Given the description of an element on the screen output the (x, y) to click on. 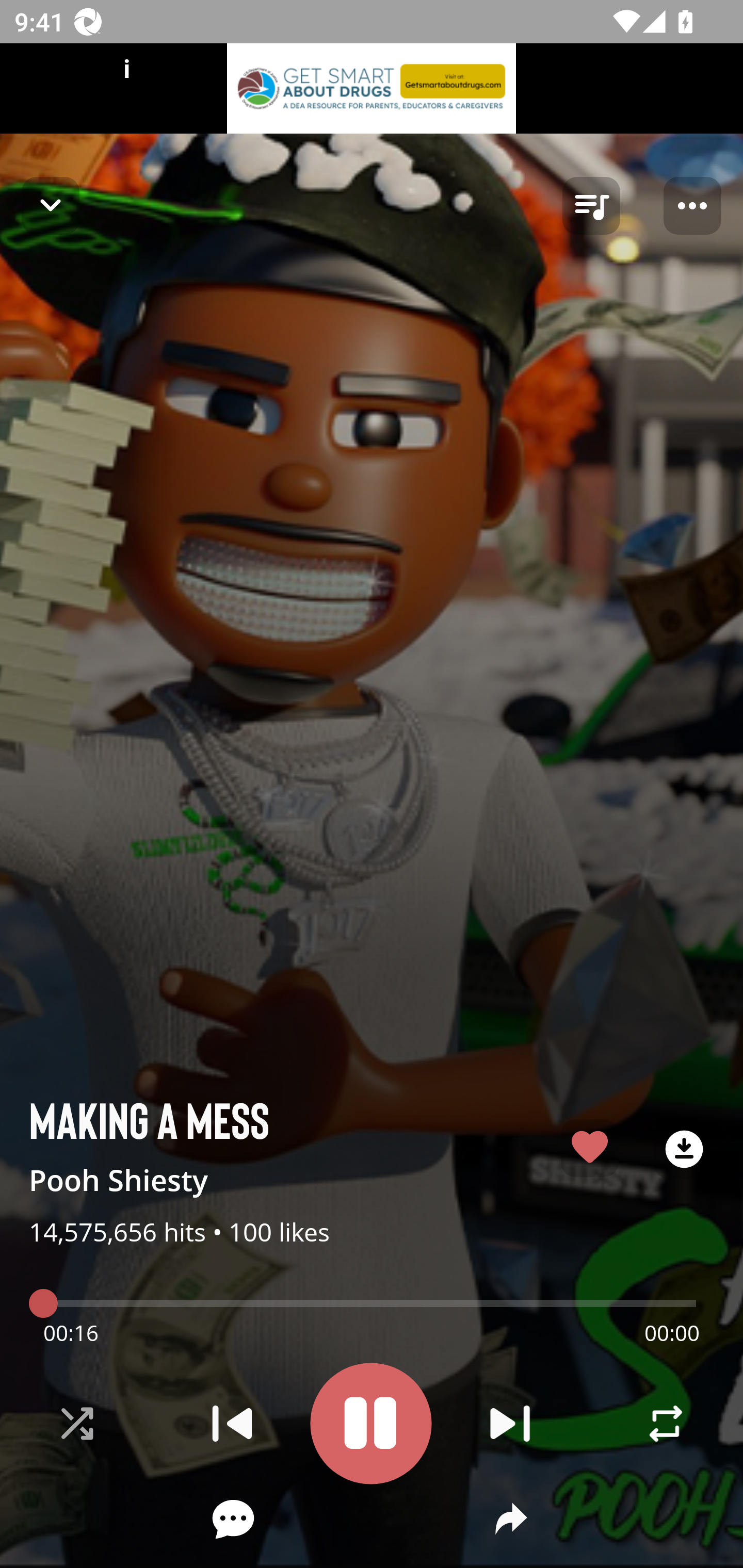
Navigate up (50, 205)
queue (590, 206)
Player options (692, 206)
